Given the description of an element on the screen output the (x, y) to click on. 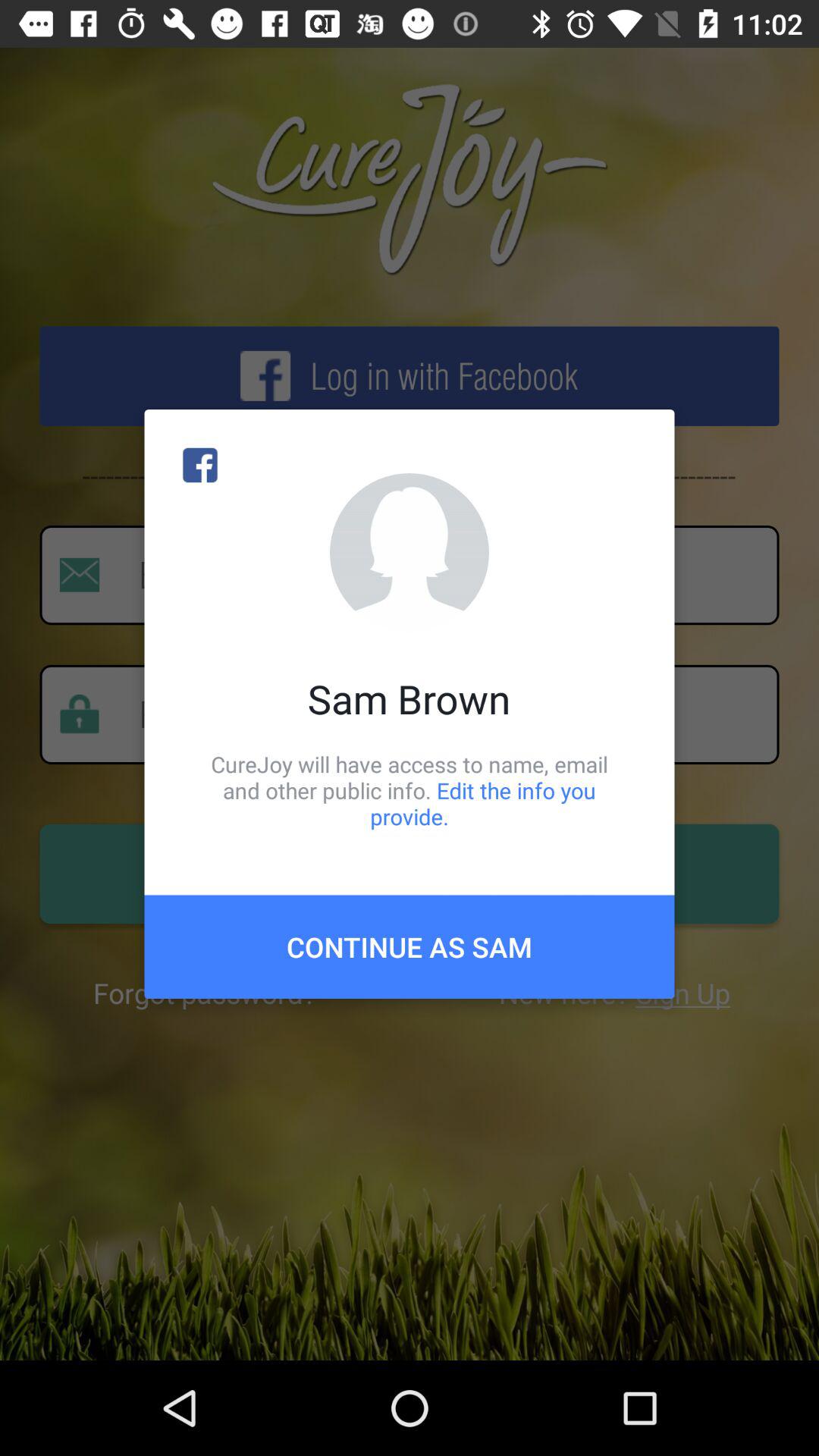
tap item below the curejoy will have (409, 946)
